Given the description of an element on the screen output the (x, y) to click on. 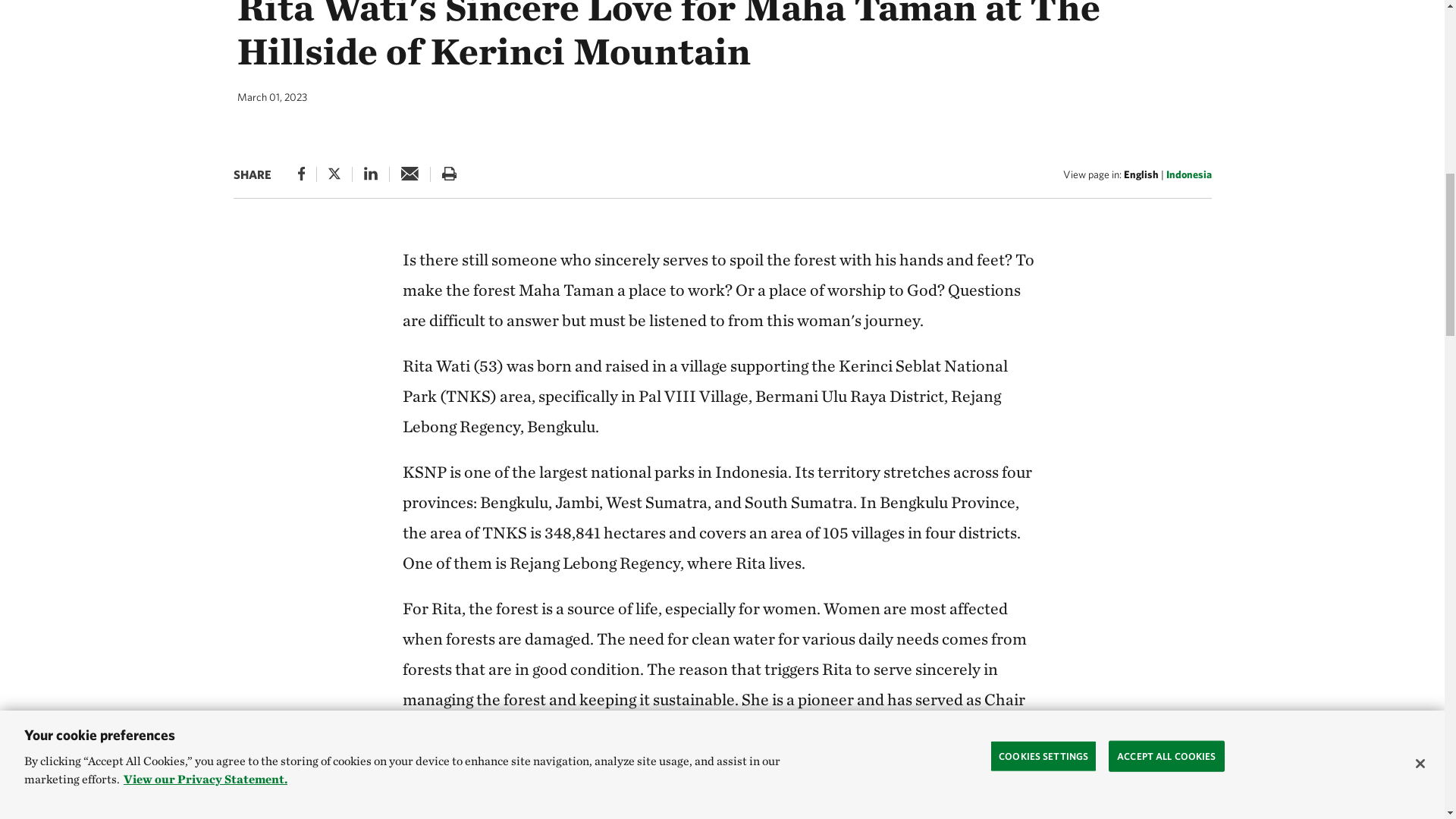
English (1141, 174)
Indonesia (1188, 174)
